Given the description of an element on the screen output the (x, y) to click on. 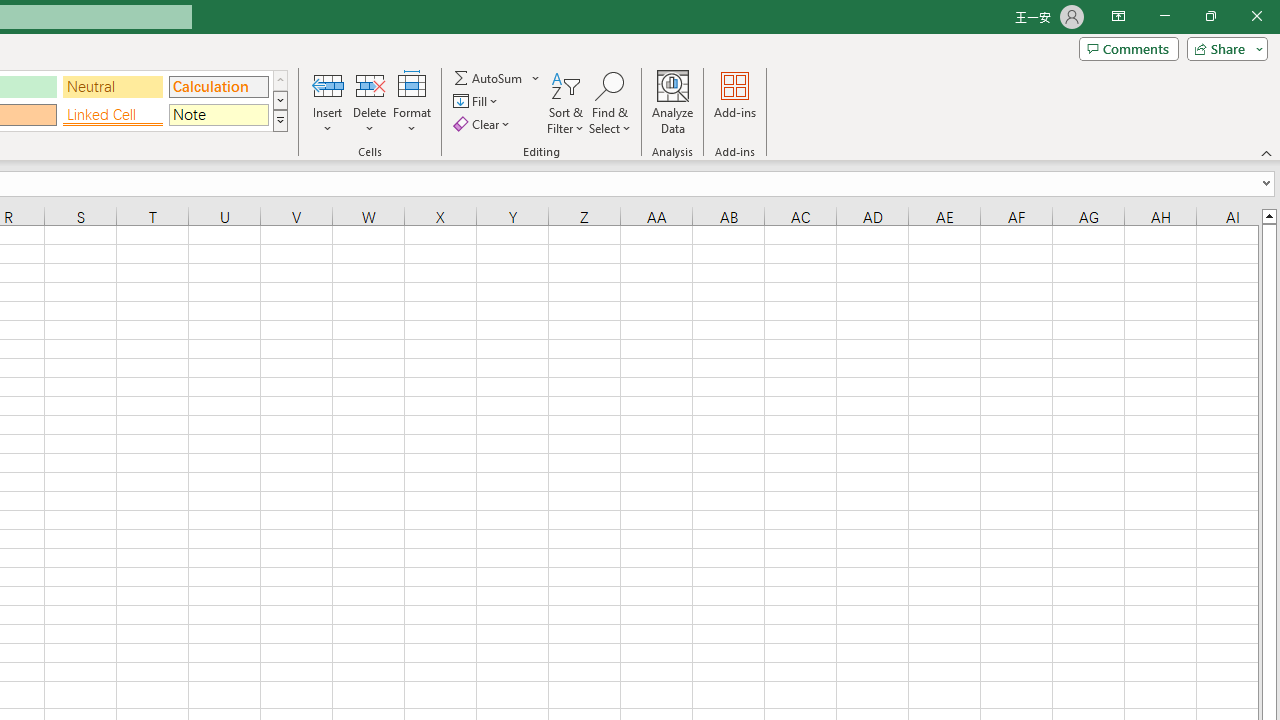
AutoSum (497, 78)
Sum (489, 78)
Delete (369, 102)
Find & Select (610, 102)
Sort & Filter (566, 102)
Cell Styles (280, 120)
Format (411, 102)
